Given the description of an element on the screen output the (x, y) to click on. 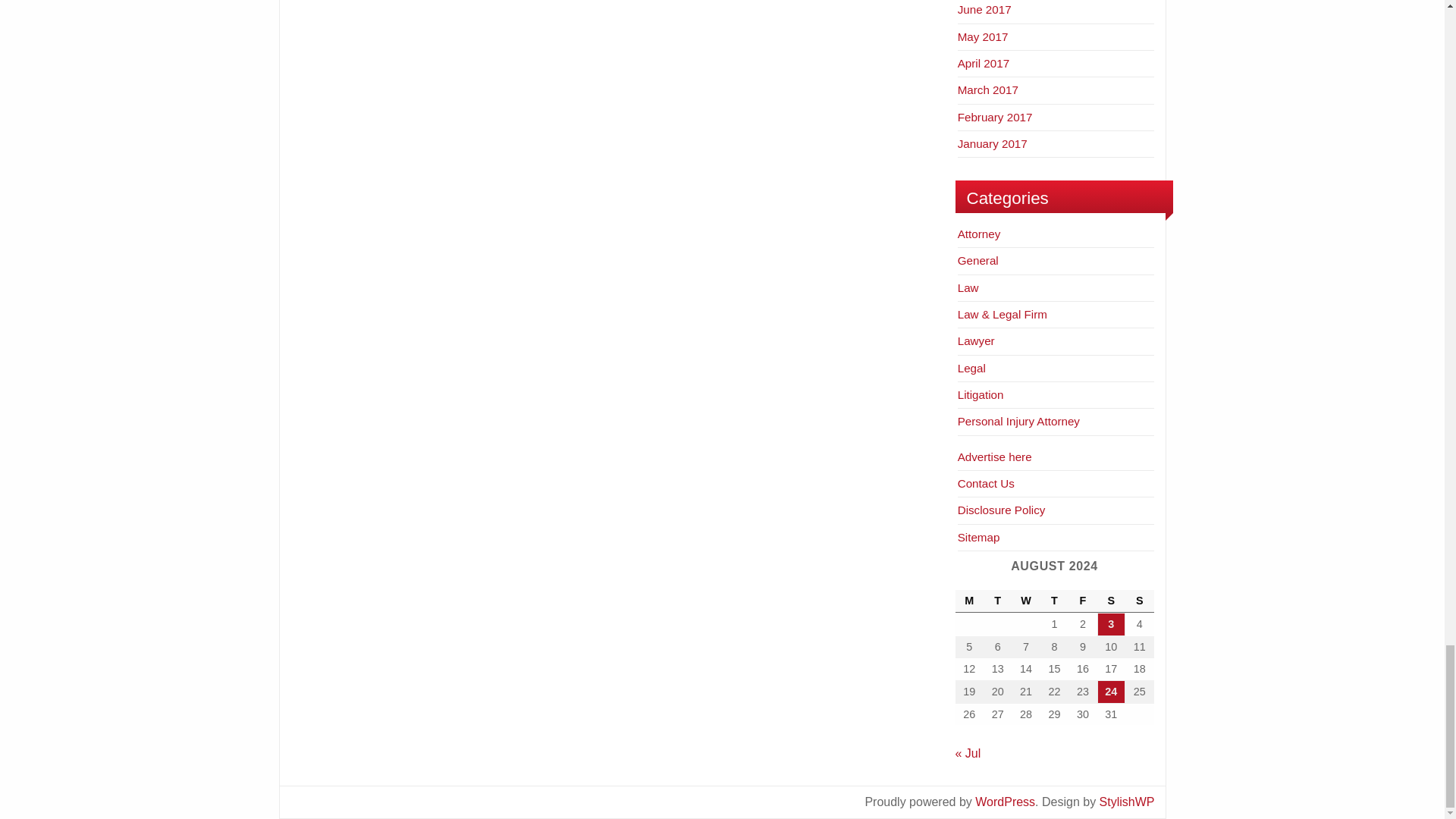
Sunday (1139, 600)
Wednesday (1025, 600)
Tuesday (997, 600)
Saturday (1111, 600)
BlogoLife (1126, 801)
Friday (1082, 600)
Thursday (1054, 600)
Monday (969, 600)
